Given the description of an element on the screen output the (x, y) to click on. 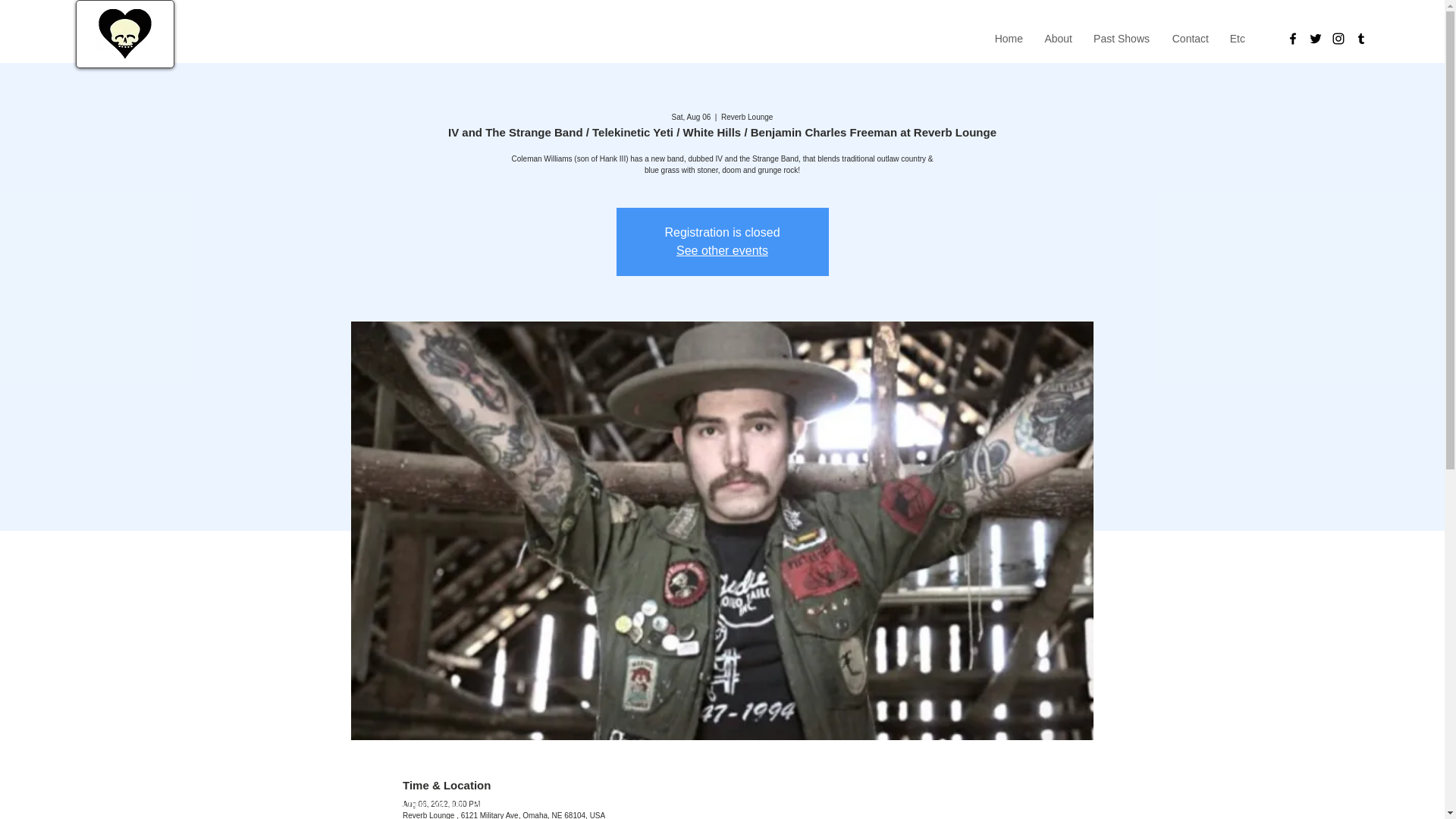
See other events (722, 250)
About (1056, 38)
Past Shows (1119, 38)
Contact (1188, 38)
Etc (1236, 38)
Home (1008, 38)
